Given the description of an element on the screen output the (x, y) to click on. 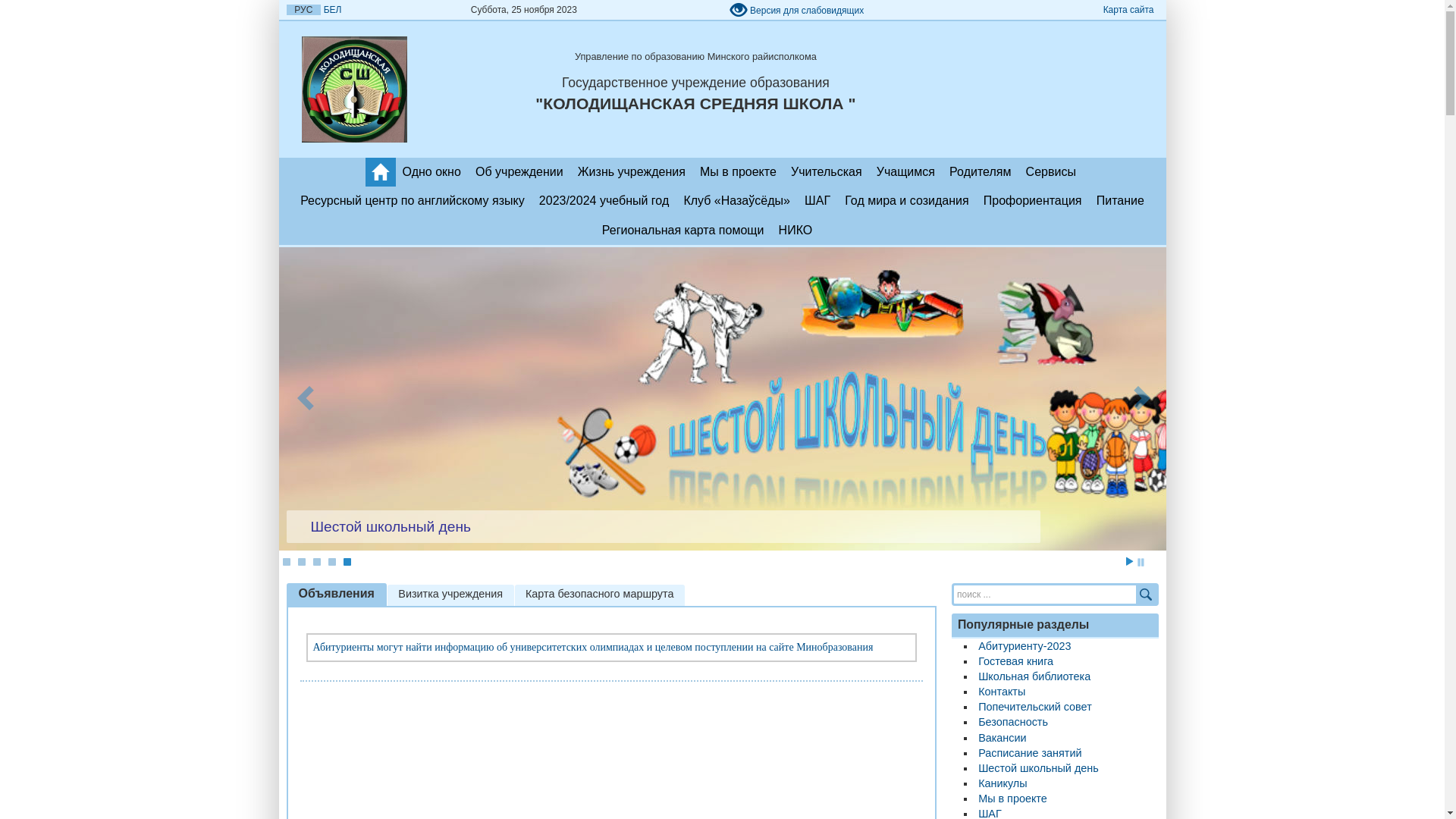
1 Element type: text (285, 561)
4 Element type: text (331, 561)
5 Element type: text (346, 561)
3 Element type: text (316, 561)
2 Element type: text (300, 561)
